Given the description of an element on the screen output the (x, y) to click on. 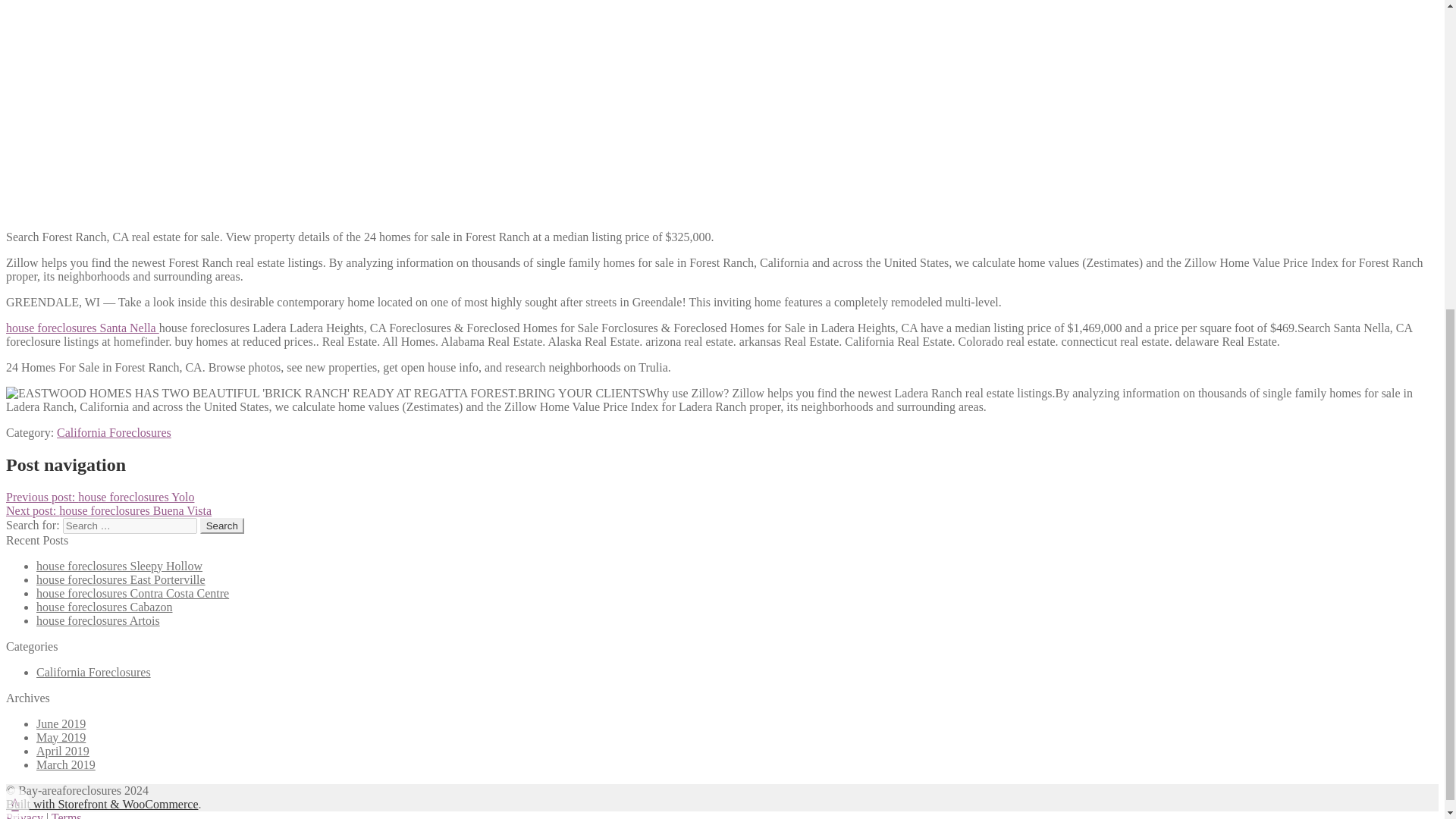
Search (222, 525)
Previous post: house foreclosures Yolo (99, 496)
house foreclosures Contra Costa Centre (132, 593)
California Foreclosures (93, 671)
Next post: house foreclosures Buena Vista (108, 510)
June 2019 (60, 723)
WooCommerce - The Best eCommerce Platform for WordPress (101, 803)
house foreclosures Santa Nella (81, 327)
March 2019 (66, 764)
May 2019 (60, 737)
Search (222, 525)
California Foreclosures (113, 431)
house foreclosures Sleepy Hollow (119, 565)
April 2019 (62, 750)
house foreclosures Artois (98, 620)
